Given the description of an element on the screen output the (x, y) to click on. 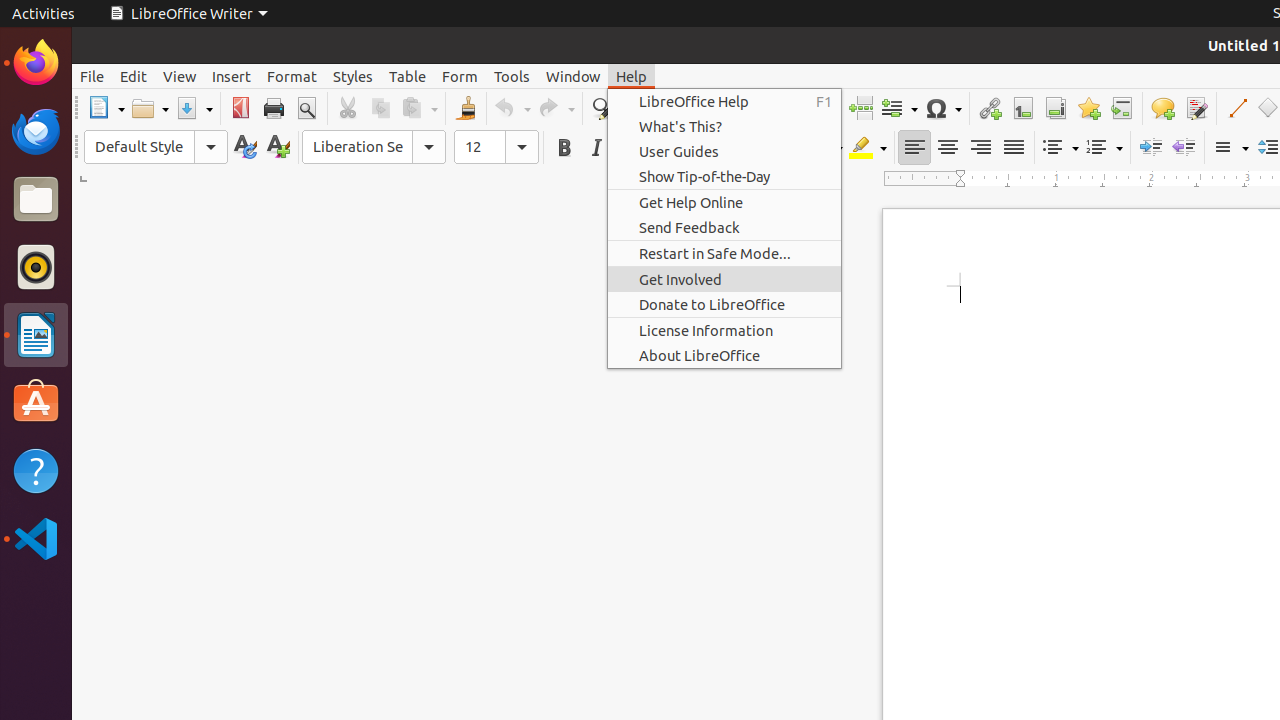
Help Element type: push-button (36, 470)
Font Size Element type: combo-box (496, 147)
Donate to LibreOffice Element type: menu-item (724, 304)
PDF Element type: push-button (240, 108)
View Element type: menu (179, 76)
